Given the description of an element on the screen output the (x, y) to click on. 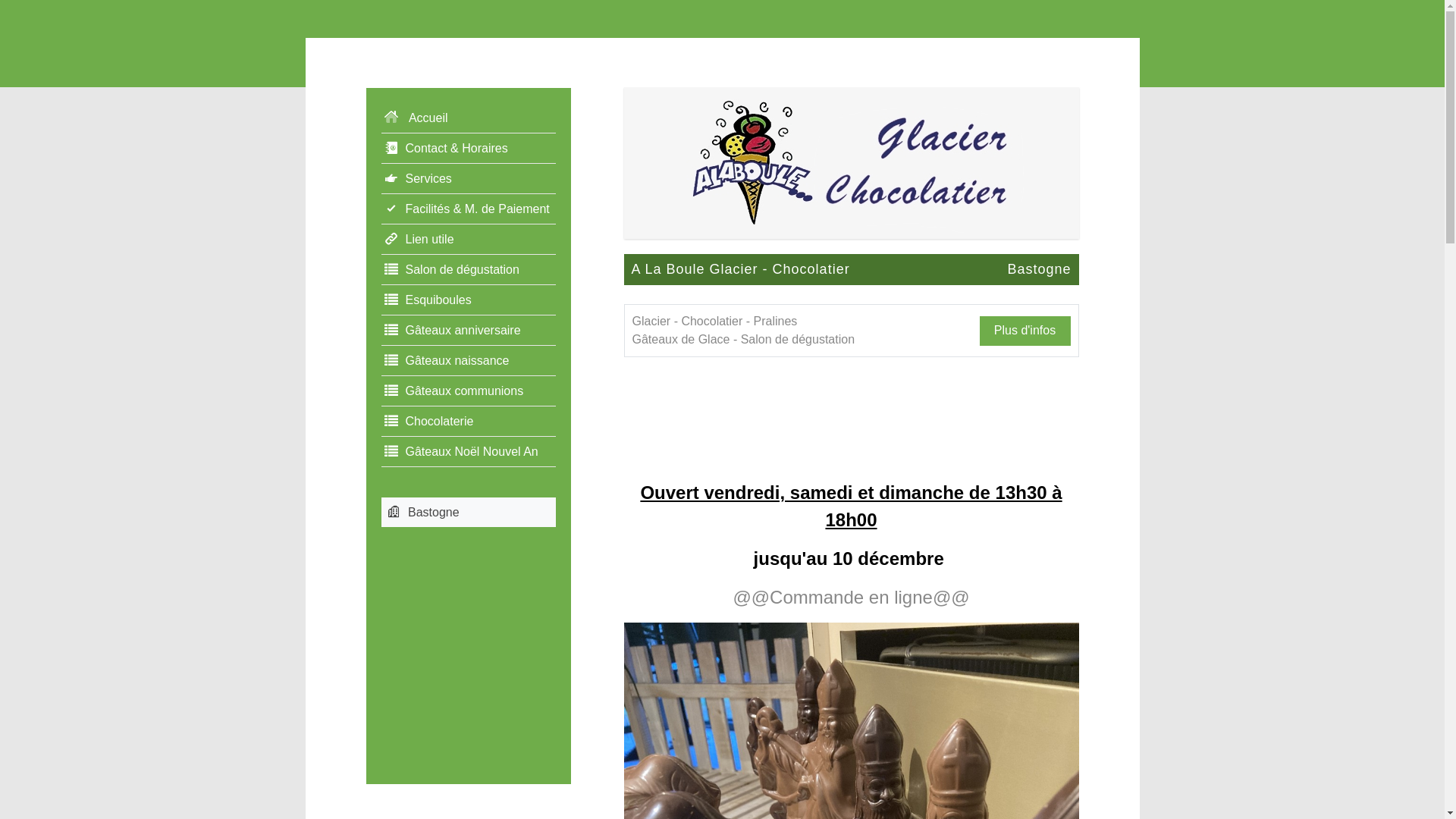
Bastogne Element type: text (467, 512)
Contact & Horaires Element type: text (467, 148)
Accueil A La Boule Glacier - Chocolatier Element type: hover (850, 161)
Lien utile Element type: text (467, 239)
Accueil Element type: text (467, 118)
Chocolaterie Element type: text (467, 421)
Esquiboules Element type: text (467, 300)
Services Element type: text (467, 178)
Plus d'infos Element type: text (1024, 330)
